Given the description of an element on the screen output the (x, y) to click on. 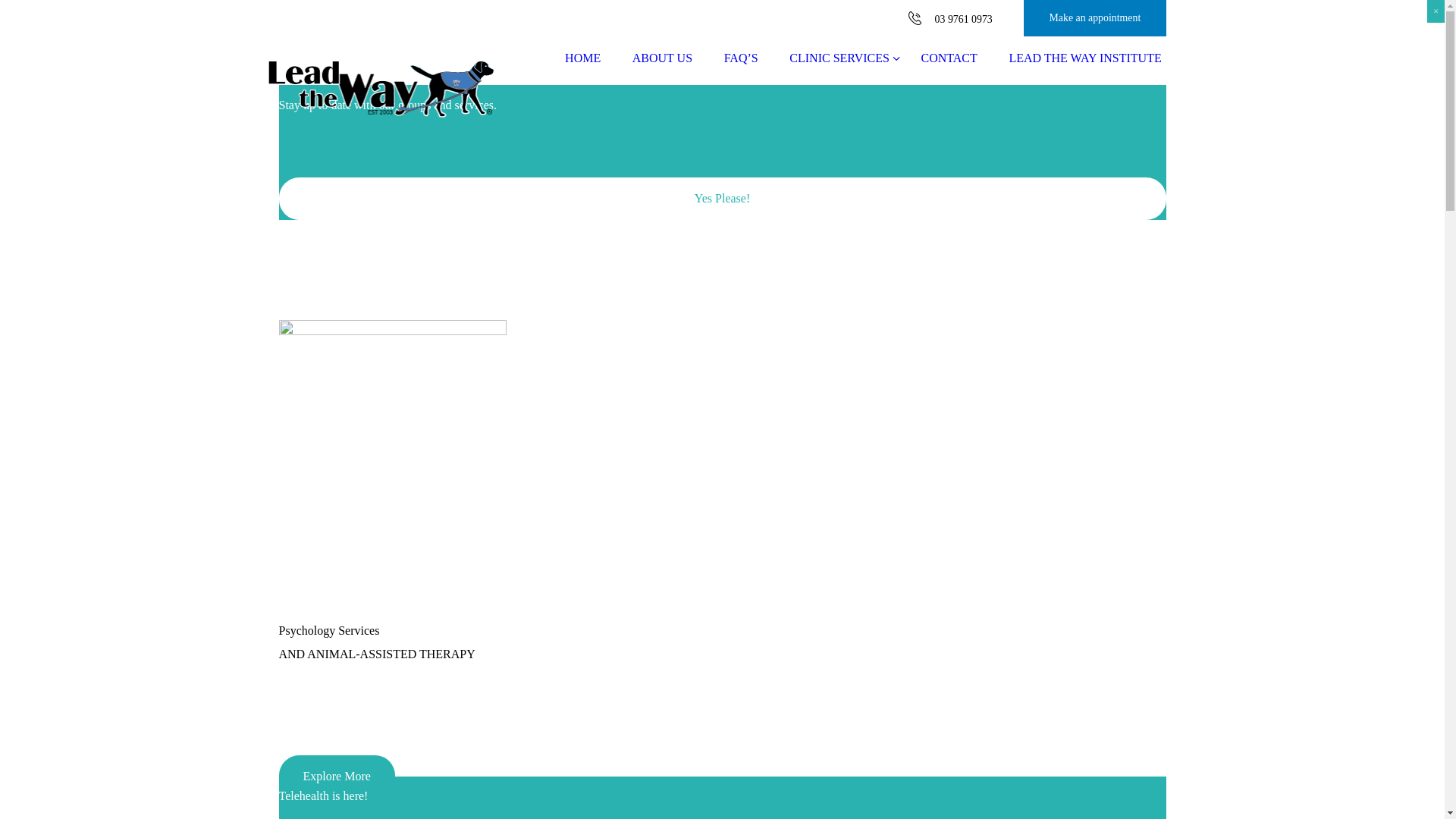
ABOUT US Element type: text (662, 58)
Make an appointment Element type: text (1095, 18)
Explore More Element type: text (337, 776)
LEAD THE WAY INSTITUTE Element type: text (1085, 58)
CONTACT Element type: text (949, 58)
Yes Please! Element type: text (722, 198)
CLINIC SERVICES Element type: text (838, 58)
HOME Element type: text (582, 58)
